Given the description of an element on the screen output the (x, y) to click on. 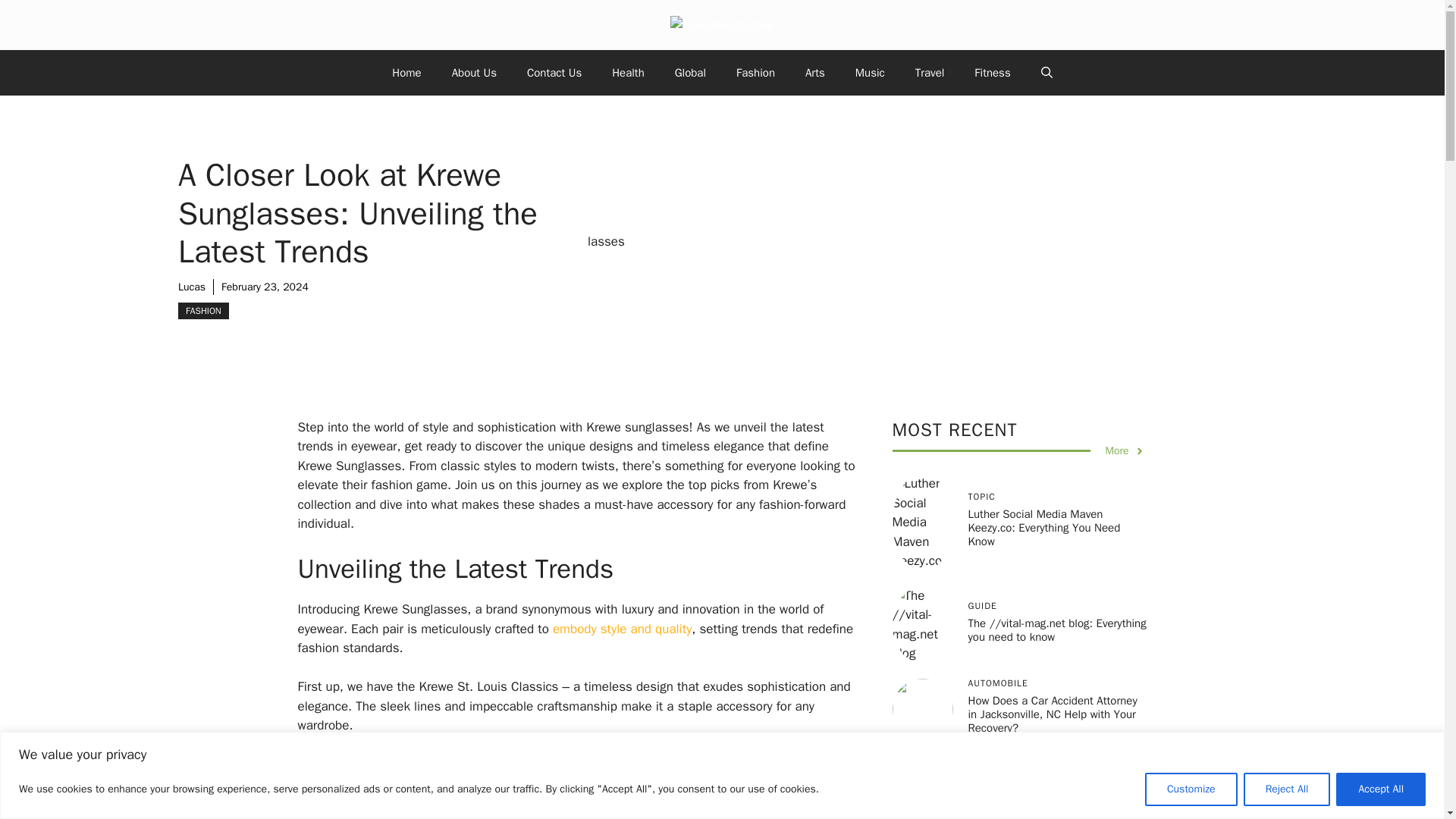
Arts (815, 72)
Accept All (1380, 788)
Home (406, 72)
Travel (929, 72)
More (1124, 450)
FASHION (202, 310)
Customize (1190, 788)
Fitness (992, 72)
Health (627, 72)
Reject All (1286, 788)
Fashion (755, 72)
Contact Us (554, 72)
embody style and quality (622, 628)
Global (689, 72)
Music (869, 72)
